Given the description of an element on the screen output the (x, y) to click on. 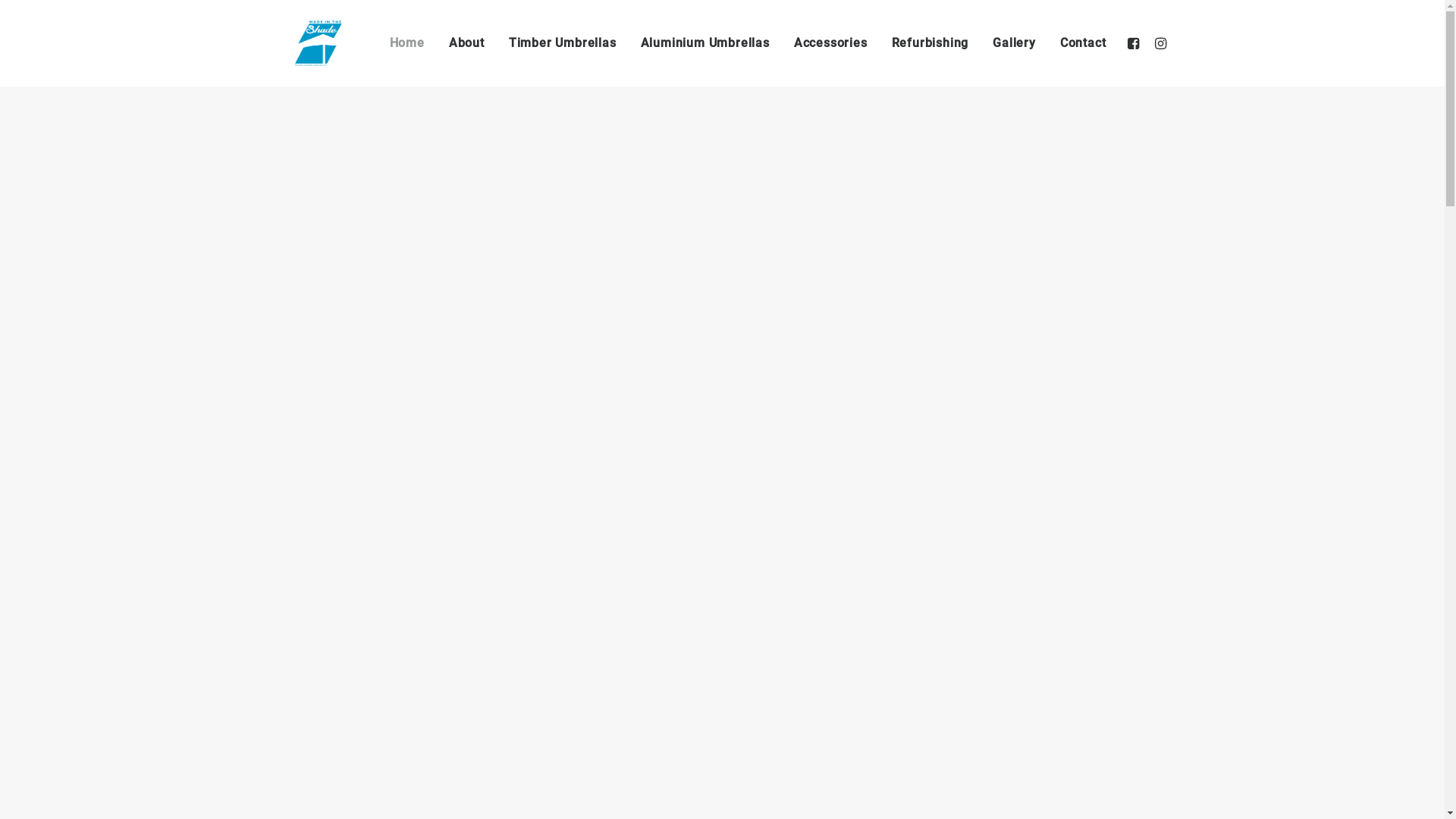
Refurbishing Element type: text (930, 43)
Contact Element type: text (1077, 43)
Gallery Element type: text (1014, 43)
Timber Umbrellas Element type: text (562, 43)
Home Element type: text (407, 43)
About Element type: text (466, 43)
Aluminium Umbrellas Element type: text (705, 43)
Accessories Element type: text (830, 43)
